Given the description of an element on the screen output the (x, y) to click on. 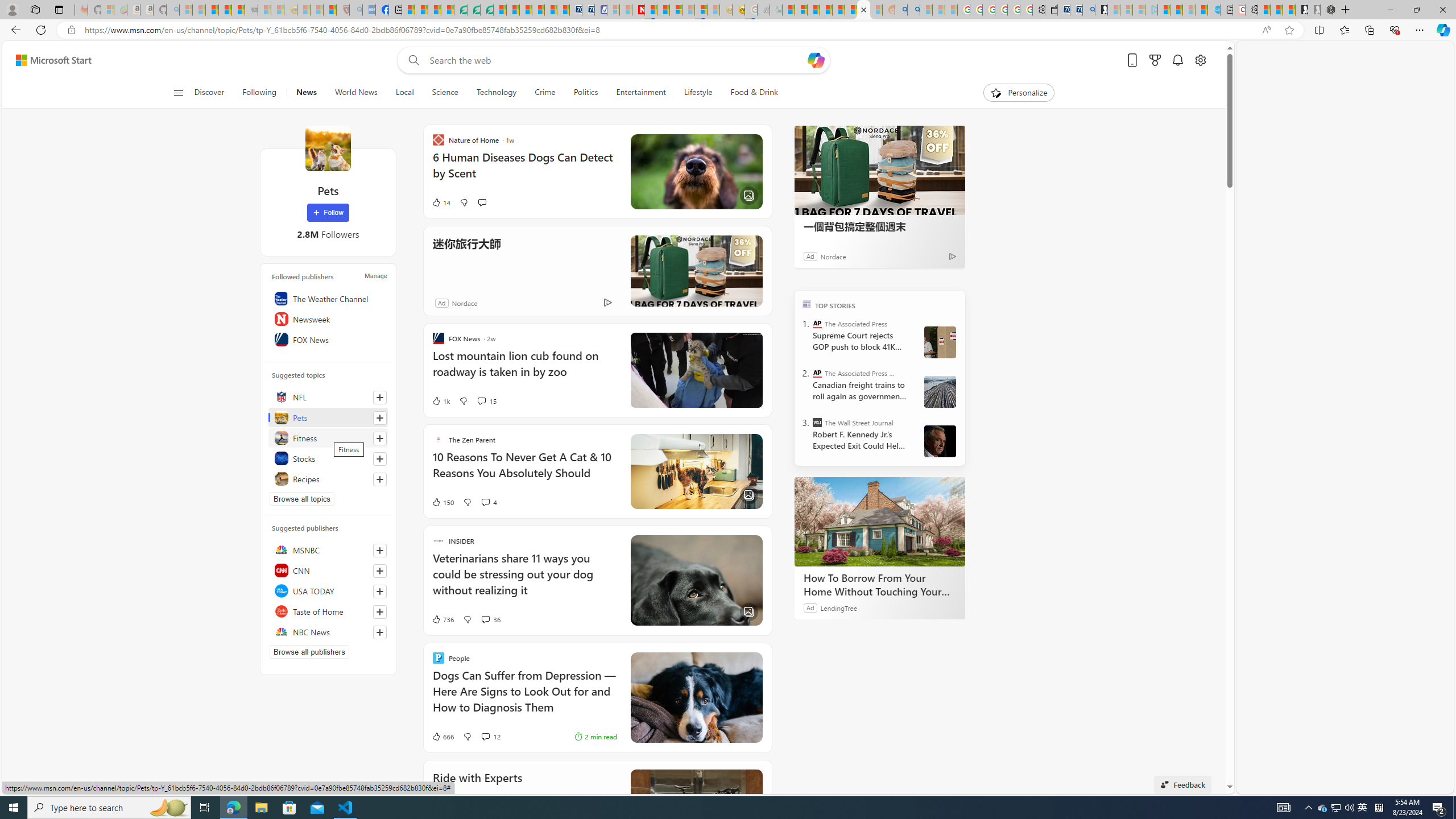
Dislike (466, 736)
View comments 36 Comment (485, 619)
View comments 15 Comment (485, 400)
News (306, 92)
Microsoft Start (1163, 9)
NBC News (327, 631)
Start the conversation (481, 202)
DITOGAMES AG Imprint - Sleeping (775, 9)
